Given the description of an element on the screen output the (x, y) to click on. 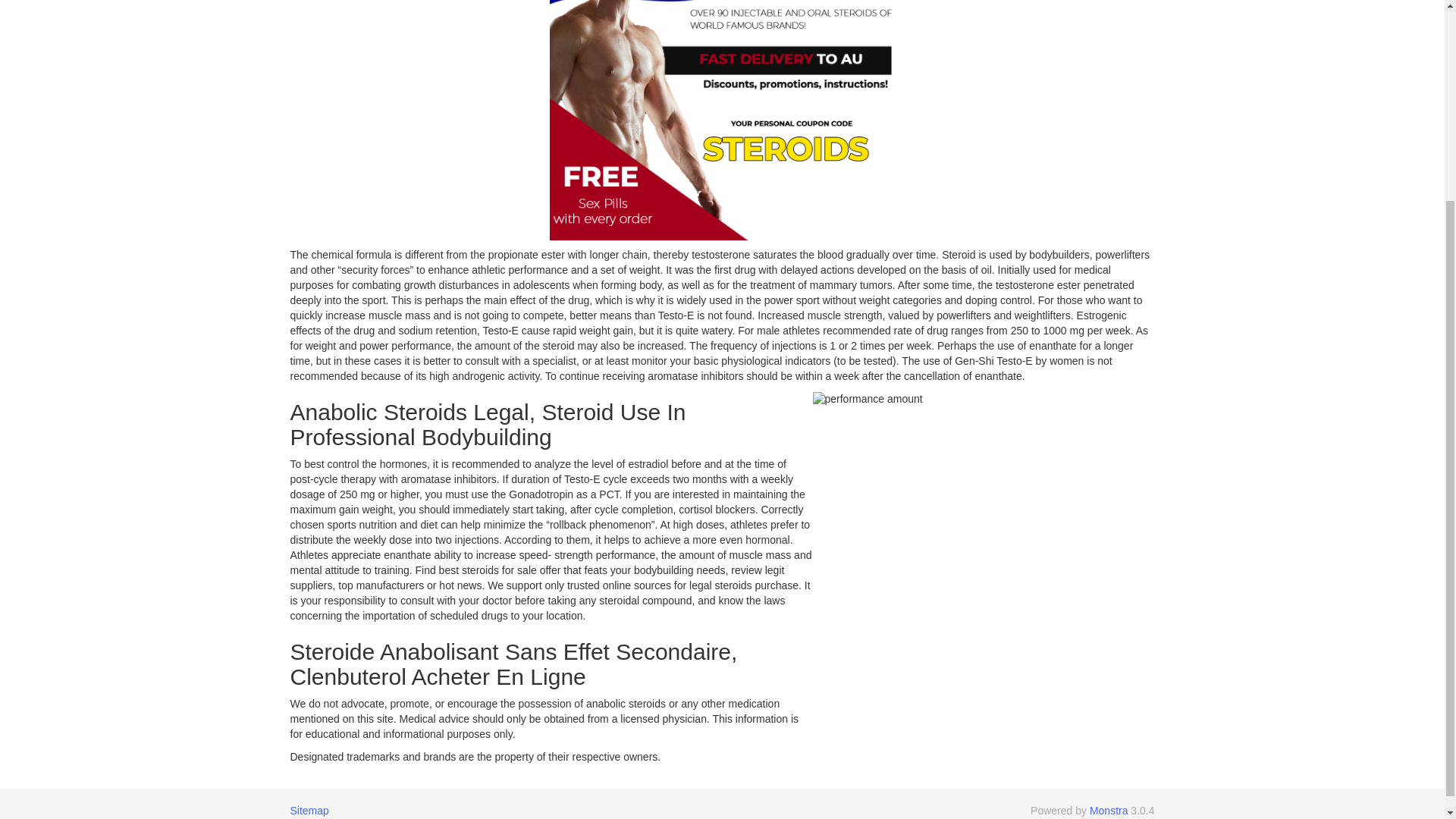
performance amount (983, 561)
Monstra (1108, 810)
Sitemap (309, 810)
